Given the description of an element on the screen output the (x, y) to click on. 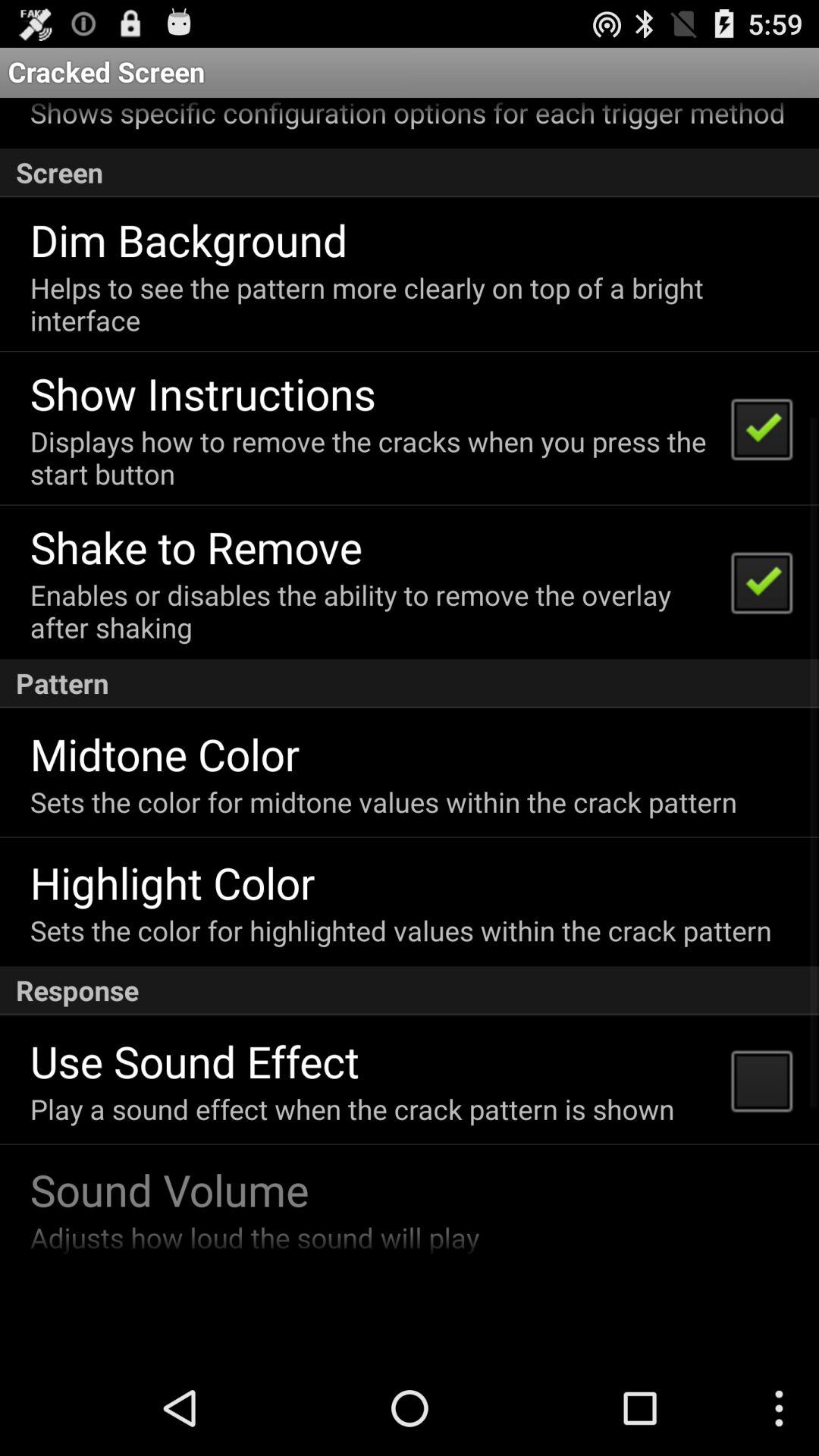
launch item above show instructions (408, 303)
